Given the description of an element on the screen output the (x, y) to click on. 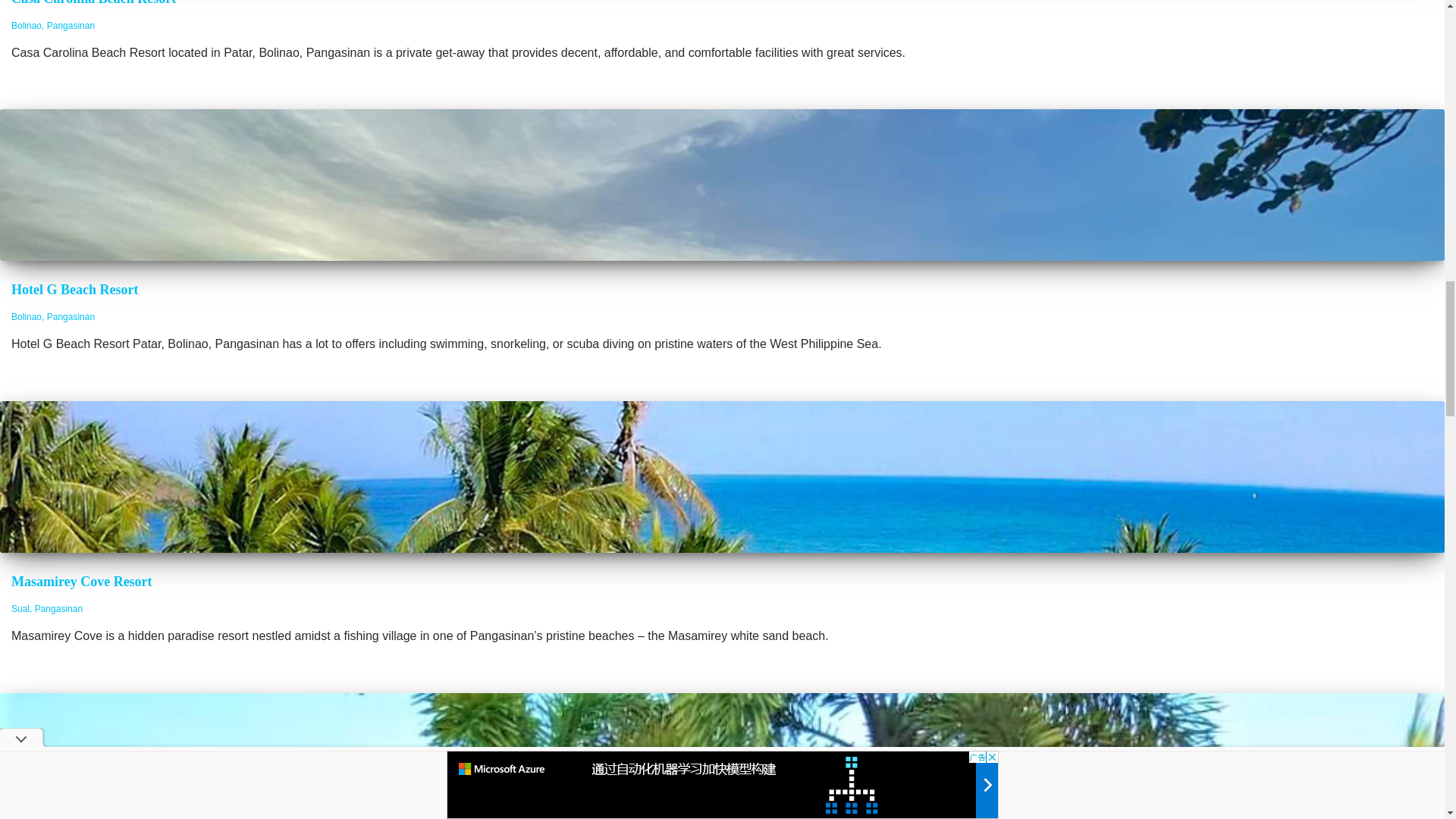
Casa Carolina Beach Resort (93, 2)
Masamirey Cove Resort (81, 581)
Sual, Pangasinan (46, 608)
Bolinao, Pangasinan (52, 25)
Hotel G Beach Resort (74, 289)
Bolinao, Pangasinan (52, 317)
